Given the description of an element on the screen output the (x, y) to click on. 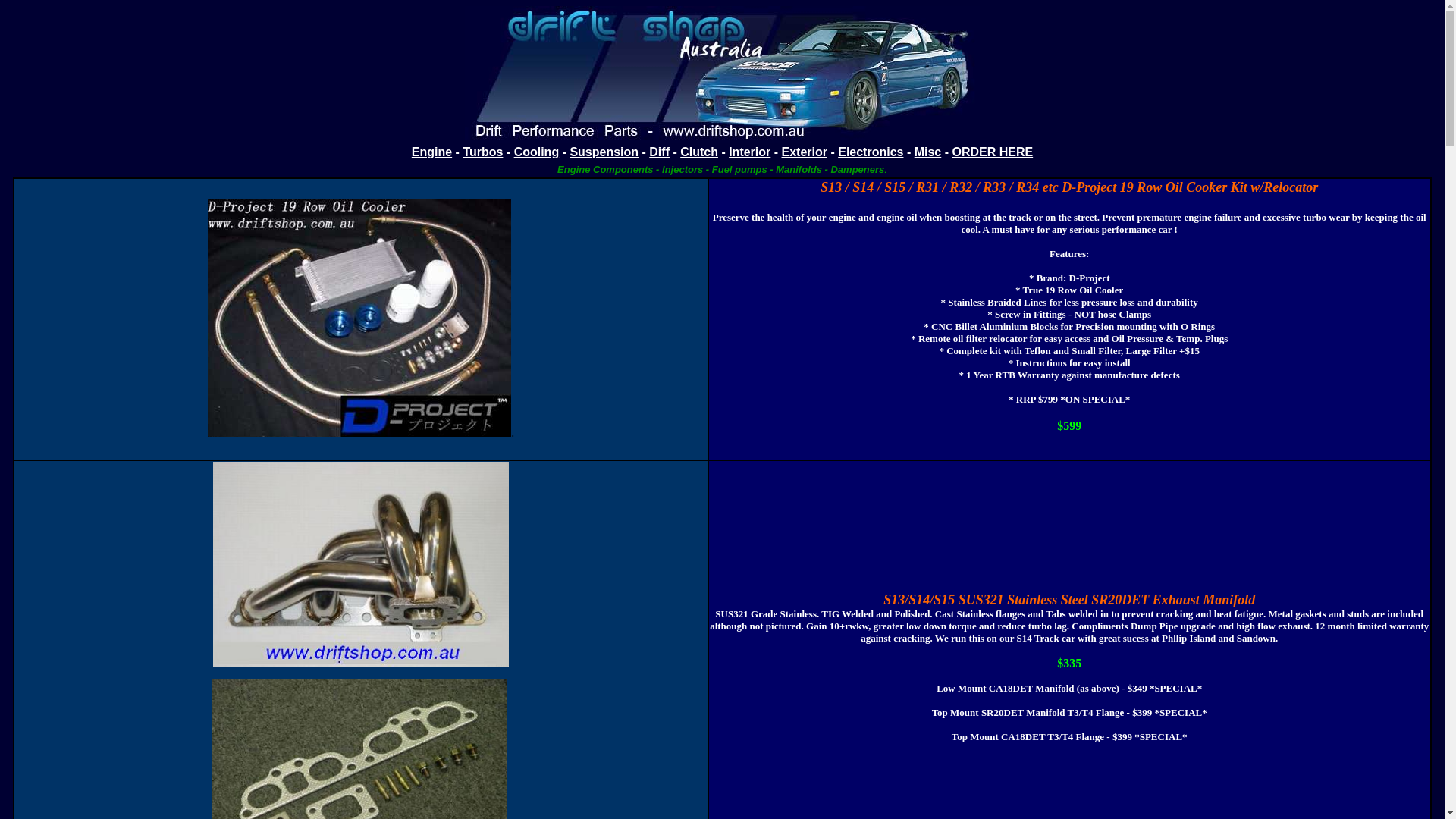
Clutch Element type: text (699, 151)
ORDER HERE Element type: text (991, 151)
Engine Element type: text (431, 151)
Cooling Element type: text (536, 151)
Diff Element type: text (659, 151)
Misc Element type: text (927, 151)
Exterior Element type: text (804, 151)
Turbos Element type: text (482, 151)
Electronics Element type: text (870, 151)
Interior Element type: text (749, 151)
Suspension Element type: text (603, 151)
